Given the description of an element on the screen output the (x, y) to click on. 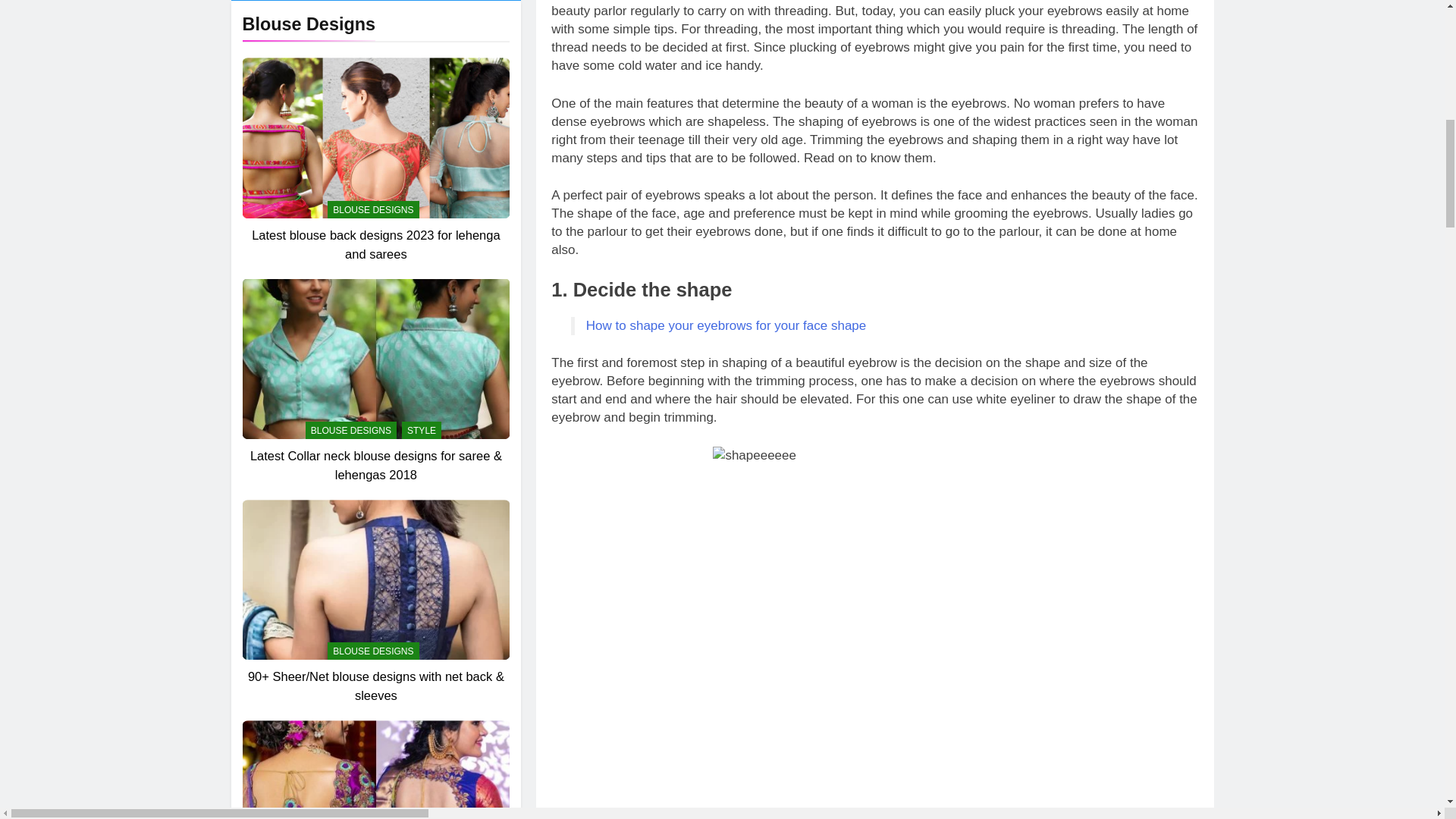
Latest maggam work blouse designs catalog (375, 345)
How to shape your eyebrows for your face shape (726, 325)
BLOUSE DESIGNS (373, 99)
BLOUSE DESIGNS (373, 320)
